Given the description of an element on the screen output the (x, y) to click on. 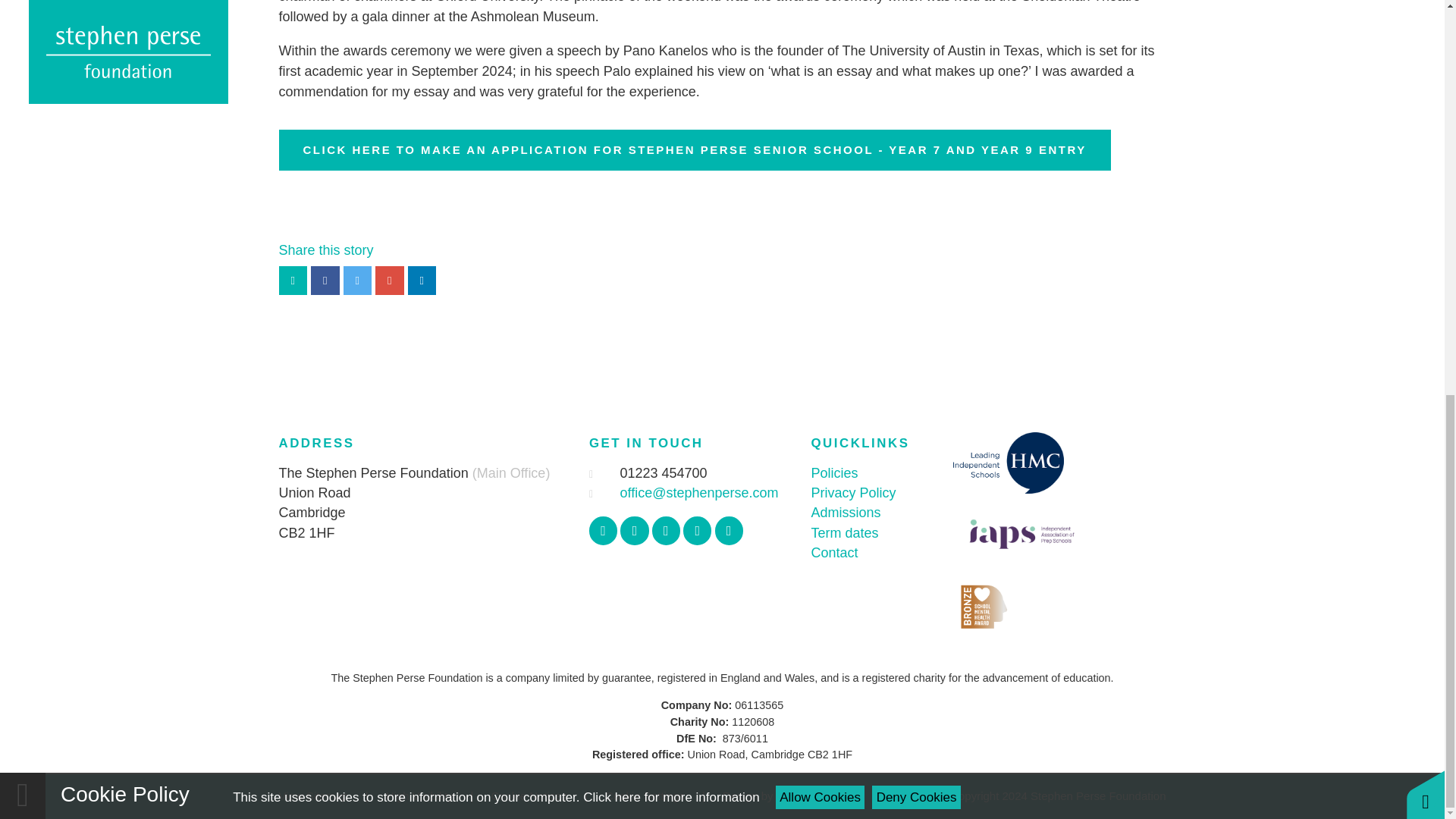
Instagram (665, 530)
YouTube (696, 530)
See cookie policy (670, 35)
Cookie Settings (644, 795)
LinkedIn (728, 530)
Facebook (603, 530)
Allow Cookies (820, 35)
Twitter (633, 530)
